Given the description of an element on the screen output the (x, y) to click on. 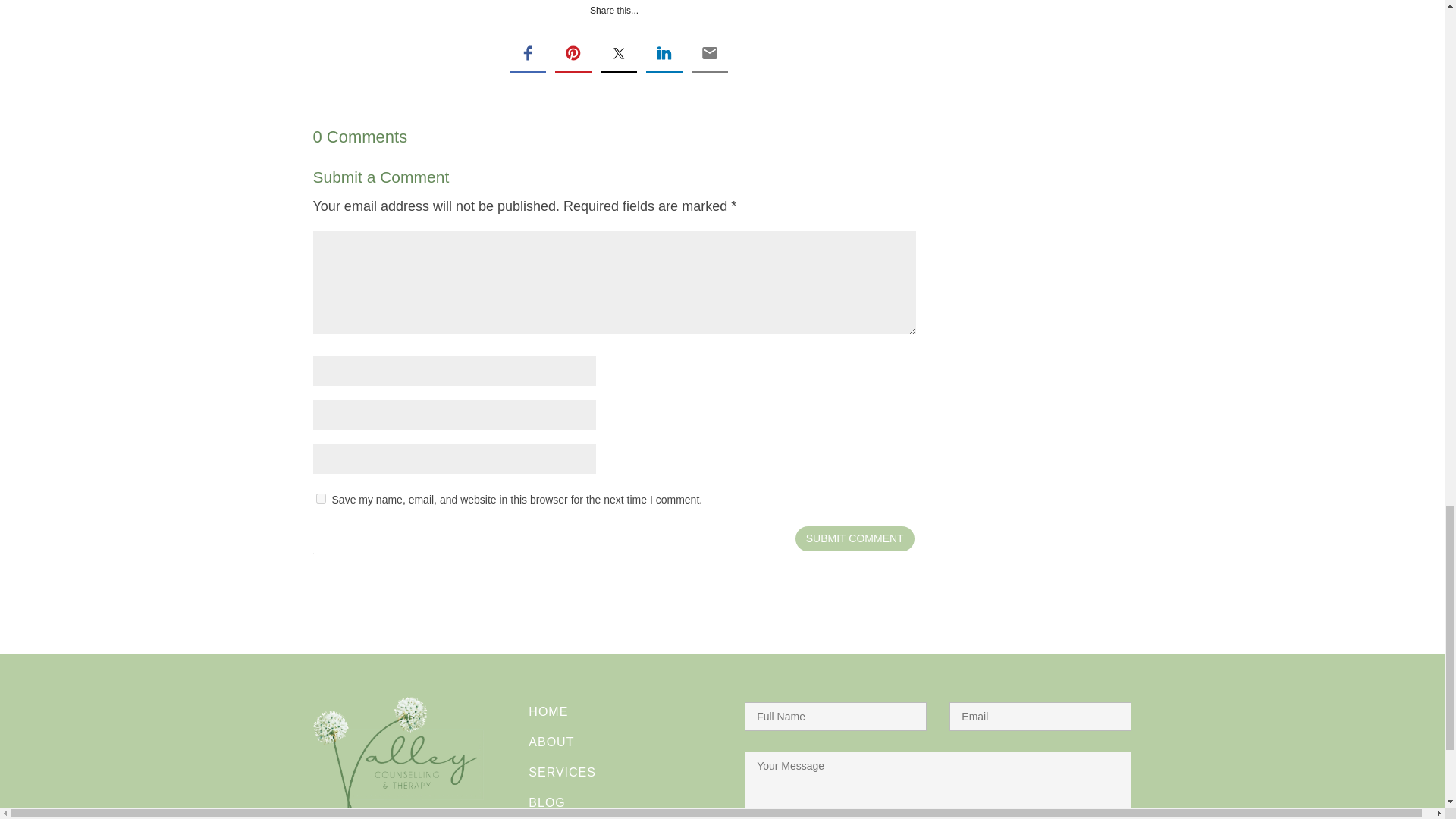
SERVICES (561, 771)
yes (319, 498)
ABOUT (550, 741)
SUBMIT COMMENT (854, 538)
HOME (547, 711)
BLOG (546, 802)
